Given the description of an element on the screen output the (x, y) to click on. 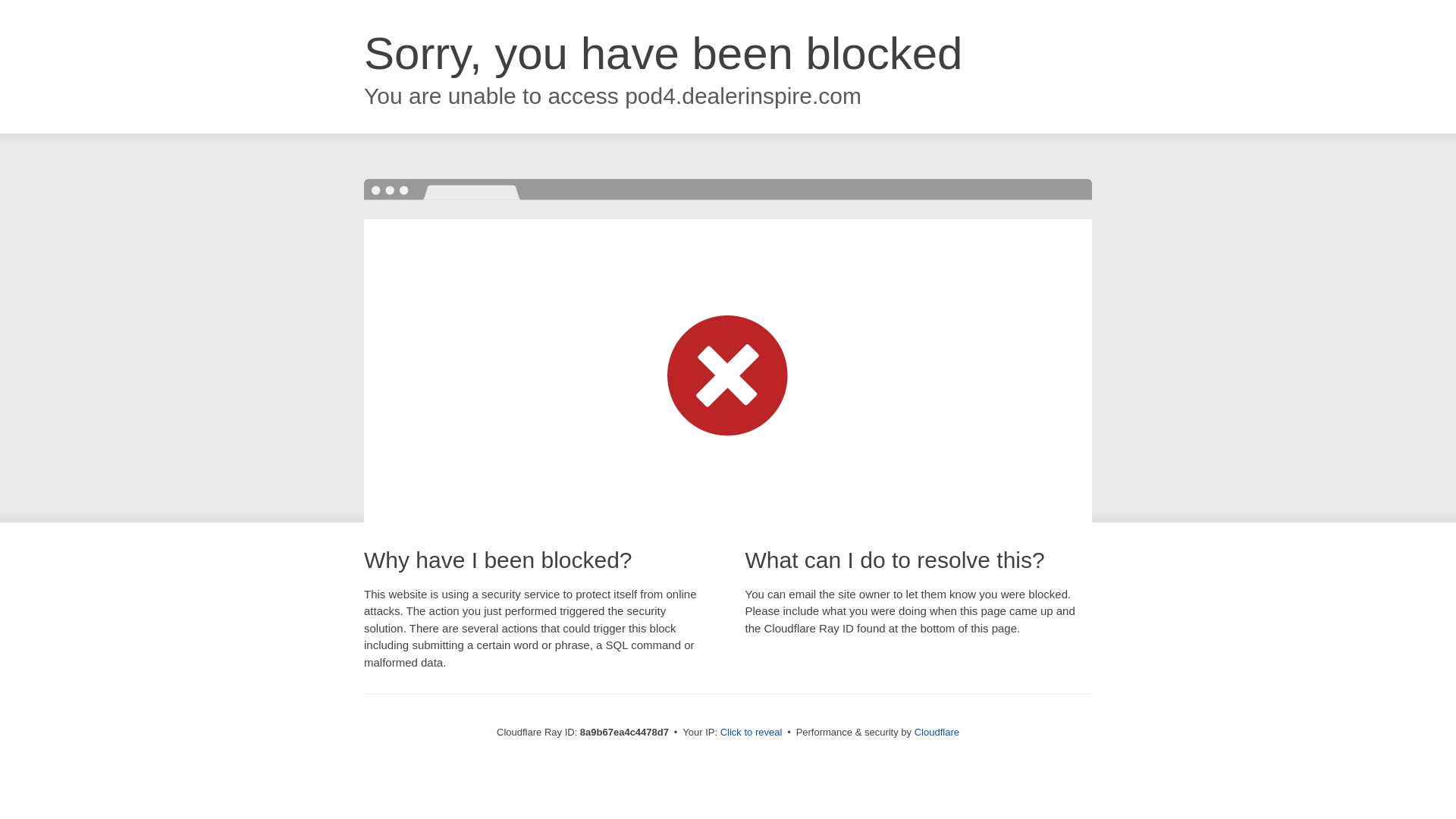
Cloudflare (936, 731)
Click to reveal (751, 732)
